Given the description of an element on the screen output the (x, y) to click on. 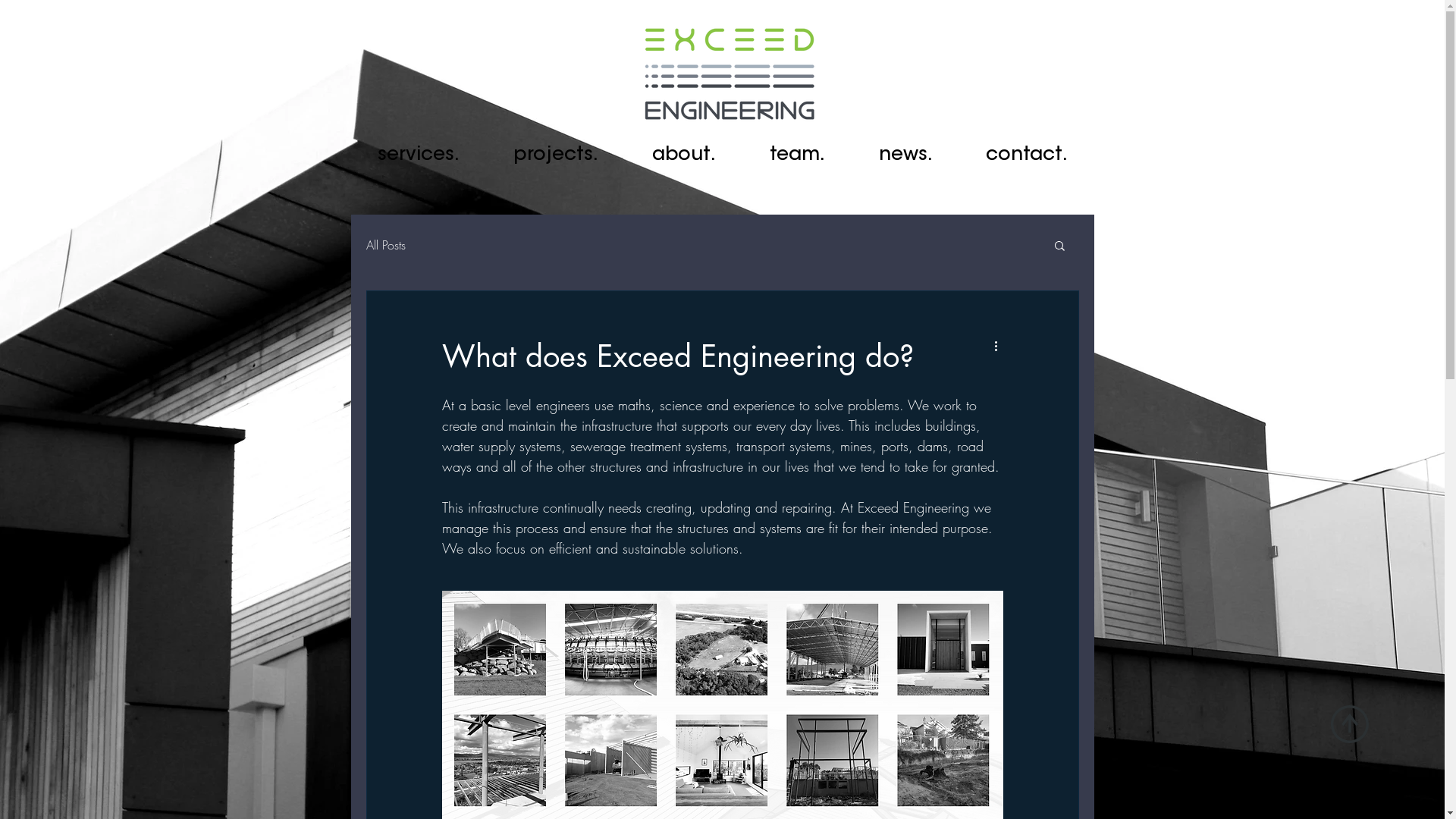
team. Element type: text (797, 155)
about. Element type: text (683, 155)
services. Element type: text (418, 155)
projects. Element type: text (555, 155)
news. Element type: text (905, 155)
contact. Element type: text (1025, 155)
All Posts Element type: text (384, 244)
